Given the description of an element on the screen output the (x, y) to click on. 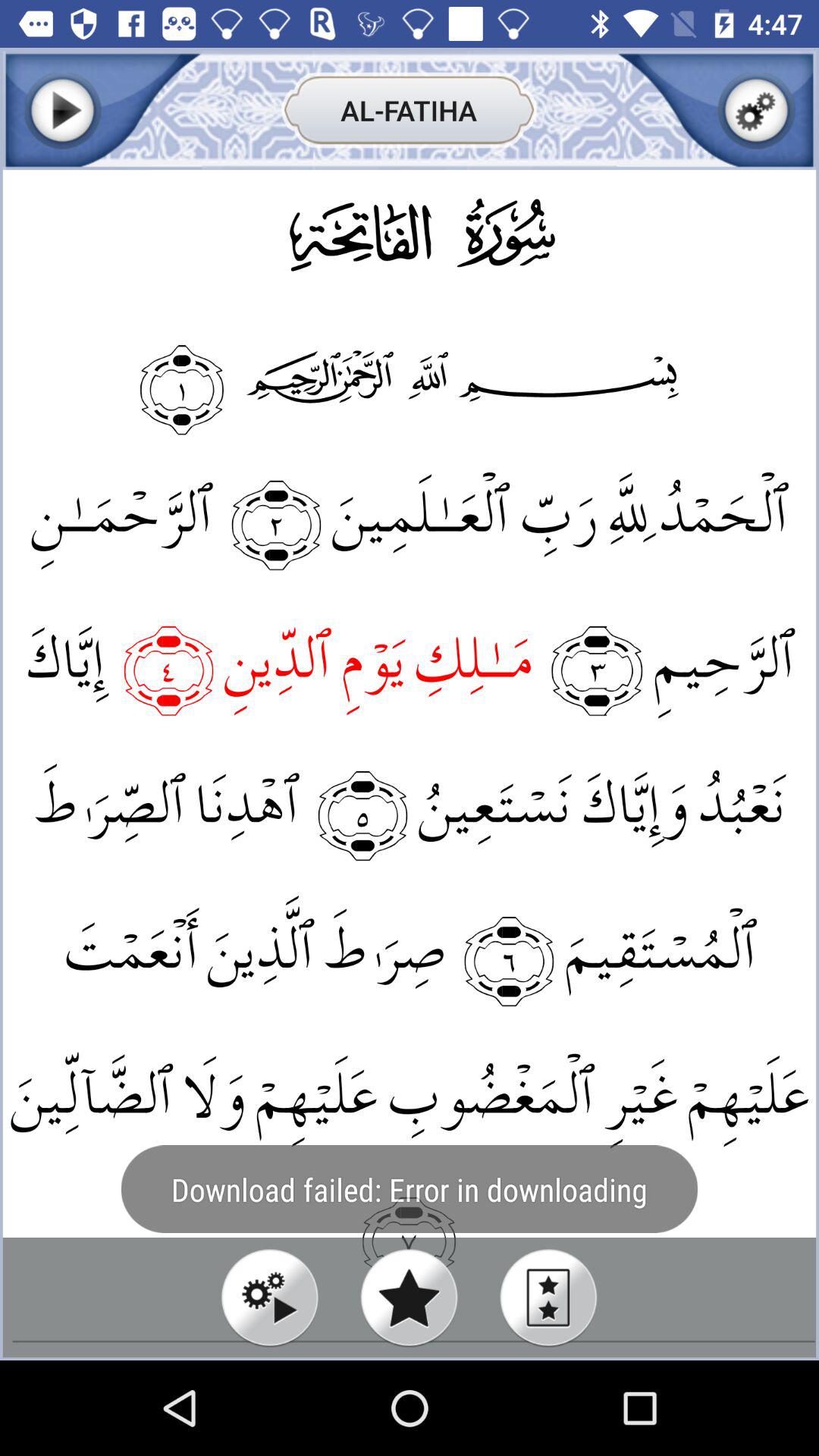
go to next (62, 110)
